Given the description of an element on the screen output the (x, y) to click on. 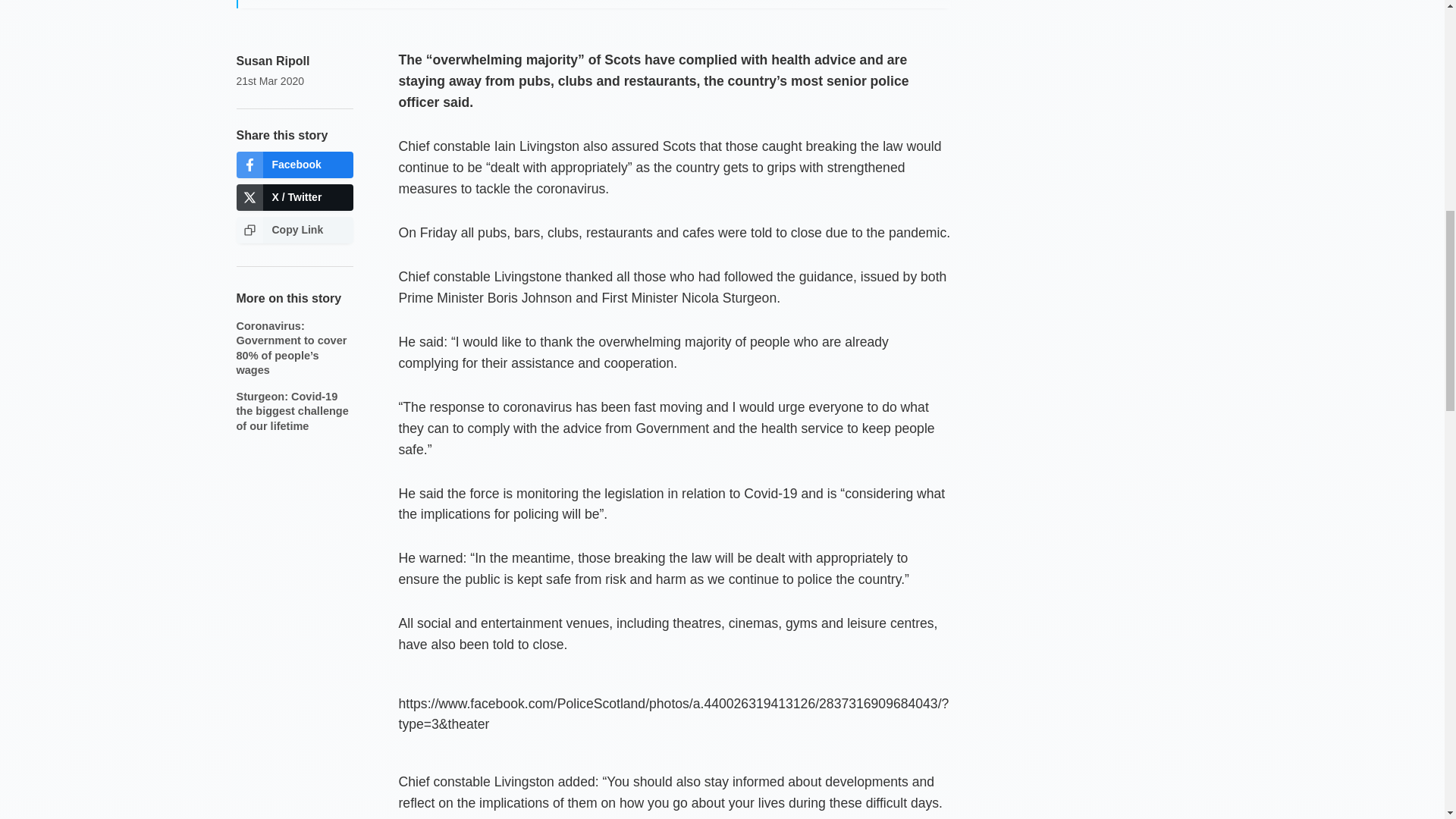
Susan Ripoll (272, 60)
Facebook (294, 164)
